Given the description of an element on the screen output the (x, y) to click on. 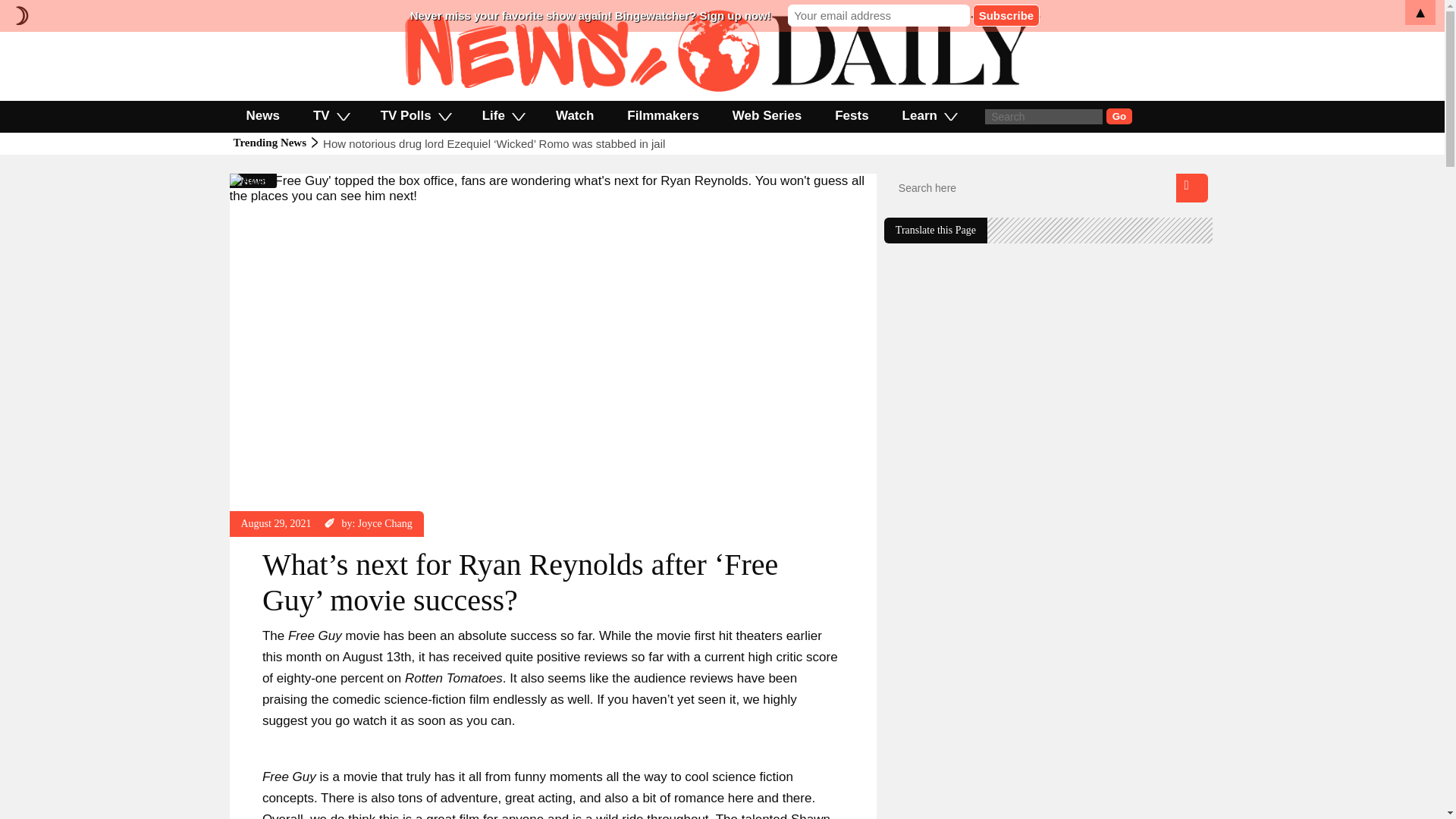
Life (501, 115)
Subscribe (1006, 15)
TV (330, 115)
TV Polls (414, 115)
Learn (928, 115)
Go (1119, 116)
August 29, 2021 (276, 523)
Go (1119, 116)
News (261, 115)
Go (1119, 116)
Filmmakers (663, 115)
Watch (574, 115)
News (253, 180)
Web Series (767, 115)
Fests (851, 115)
